Given the description of an element on the screen output the (x, y) to click on. 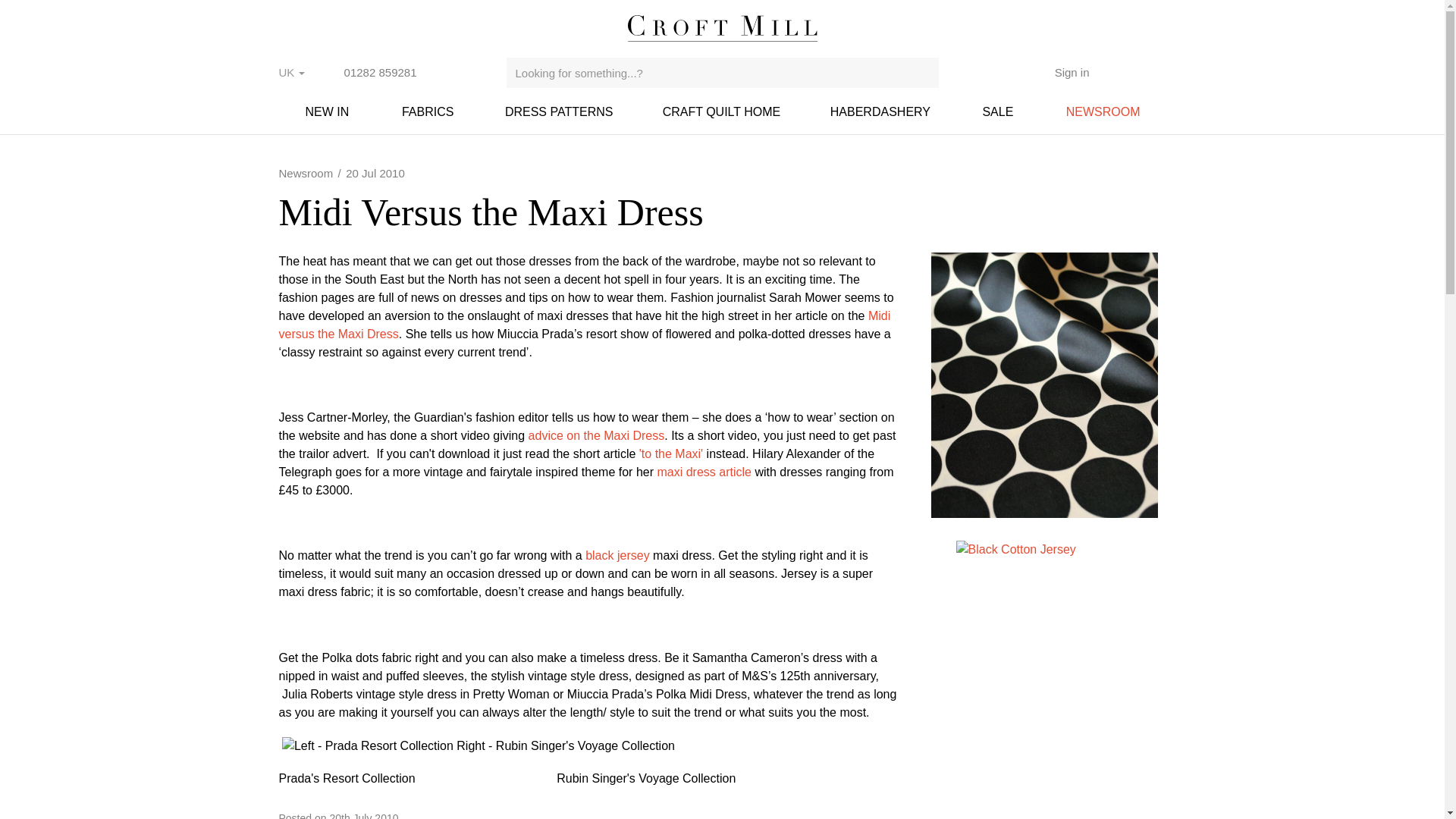
01282 859281 (371, 72)
FABRICS (427, 111)
NEW IN (327, 111)
Search (923, 72)
Croft Mill newsroom (1103, 111)
